Given the description of an element on the screen output the (x, y) to click on. 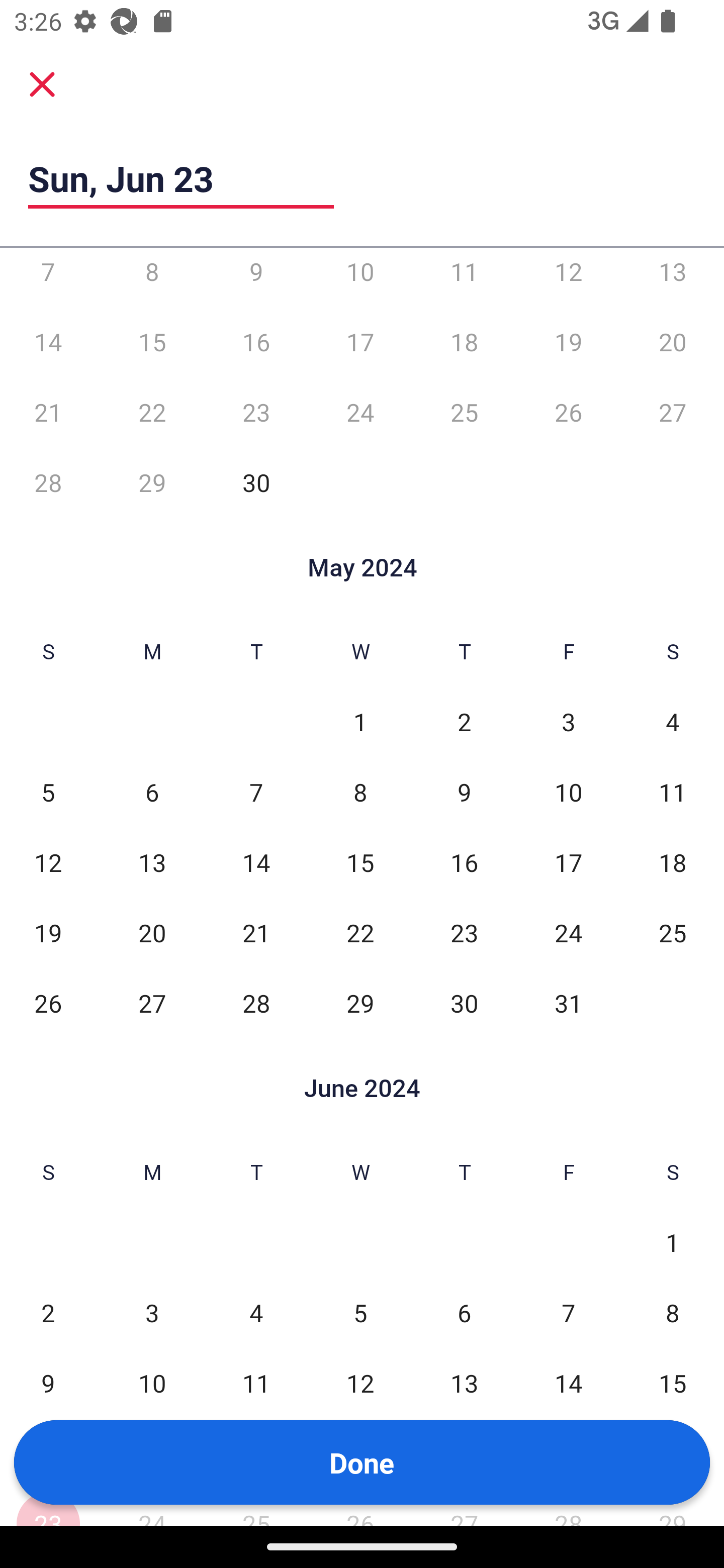
Cancel (41, 83)
Sun, Jun 23 (180, 178)
7 Sun, Apr 7, Not Selected (48, 277)
8 Mon, Apr 8, Not Selected (152, 277)
9 Tue, Apr 9, Not Selected (256, 277)
10 Wed, Apr 10, Not Selected (360, 277)
11 Thu, Apr 11, Not Selected (464, 277)
12 Fri, Apr 12, Not Selected (568, 277)
13 Sat, Apr 13, Not Selected (672, 277)
14 Sun, Apr 14, Not Selected (48, 341)
15 Mon, Apr 15, Not Selected (152, 341)
16 Tue, Apr 16, Not Selected (256, 341)
17 Wed, Apr 17, Not Selected (360, 341)
18 Thu, Apr 18, Not Selected (464, 341)
19 Fri, Apr 19, Not Selected (568, 341)
20 Sat, Apr 20, Not Selected (672, 341)
21 Sun, Apr 21, Not Selected (48, 411)
22 Mon, Apr 22, Not Selected (152, 411)
23 Tue, Apr 23, Not Selected (256, 411)
24 Wed, Apr 24, Not Selected (360, 411)
25 Thu, Apr 25, Not Selected (464, 411)
26 Fri, Apr 26, Not Selected (568, 411)
27 Sat, Apr 27, Not Selected (672, 411)
28 Sun, Apr 28, Not Selected (48, 481)
29 Mon, Apr 29, Not Selected (152, 481)
30 Tue, Apr 30, Not Selected (256, 481)
1 Wed, May 1, Not Selected (360, 721)
2 Thu, May 2, Not Selected (464, 721)
3 Fri, May 3, Not Selected (568, 721)
4 Sat, May 4, Not Selected (672, 721)
5 Sun, May 5, Not Selected (48, 792)
6 Mon, May 6, Not Selected (152, 792)
7 Tue, May 7, Not Selected (256, 792)
8 Wed, May 8, Not Selected (360, 792)
9 Thu, May 9, Not Selected (464, 792)
10 Fri, May 10, Not Selected (568, 792)
11 Sat, May 11, Not Selected (672, 792)
12 Sun, May 12, Not Selected (48, 861)
13 Mon, May 13, Not Selected (152, 861)
14 Tue, May 14, Not Selected (256, 861)
15 Wed, May 15, Not Selected (360, 861)
16 Thu, May 16, Not Selected (464, 861)
17 Fri, May 17, Not Selected (568, 861)
18 Sat, May 18, Not Selected (672, 861)
19 Sun, May 19, Not Selected (48, 931)
20 Mon, May 20, Not Selected (152, 931)
21 Tue, May 21, Not Selected (256, 931)
22 Wed, May 22, Not Selected (360, 931)
23 Thu, May 23, Not Selected (464, 931)
24 Fri, May 24, Not Selected (568, 931)
25 Sat, May 25, Not Selected (672, 931)
26 Sun, May 26, Not Selected (48, 1002)
27 Mon, May 27, Not Selected (152, 1002)
28 Tue, May 28, Not Selected (256, 1002)
29 Wed, May 29, Not Selected (360, 1002)
30 Thu, May 30, Not Selected (464, 1002)
31 Fri, May 31, Not Selected (568, 1002)
1 Sat, Jun 1, Not Selected (672, 1242)
2 Sun, Jun 2, Not Selected (48, 1312)
3 Mon, Jun 3, Not Selected (152, 1312)
4 Tue, Jun 4, Not Selected (256, 1312)
5 Wed, Jun 5, Not Selected (360, 1312)
6 Thu, Jun 6, Not Selected (464, 1312)
7 Fri, Jun 7, Not Selected (568, 1312)
8 Sat, Jun 8, Not Selected (672, 1312)
9 Sun, Jun 9, Not Selected (48, 1382)
10 Mon, Jun 10, Not Selected (152, 1382)
11 Tue, Jun 11, Not Selected (256, 1382)
12 Wed, Jun 12, Not Selected (360, 1382)
13 Thu, Jun 13, Not Selected (464, 1382)
14 Fri, Jun 14, Not Selected (568, 1382)
15 Sat, Jun 15, Not Selected (672, 1382)
Done Button Done (361, 1462)
